Given the description of an element on the screen output the (x, y) to click on. 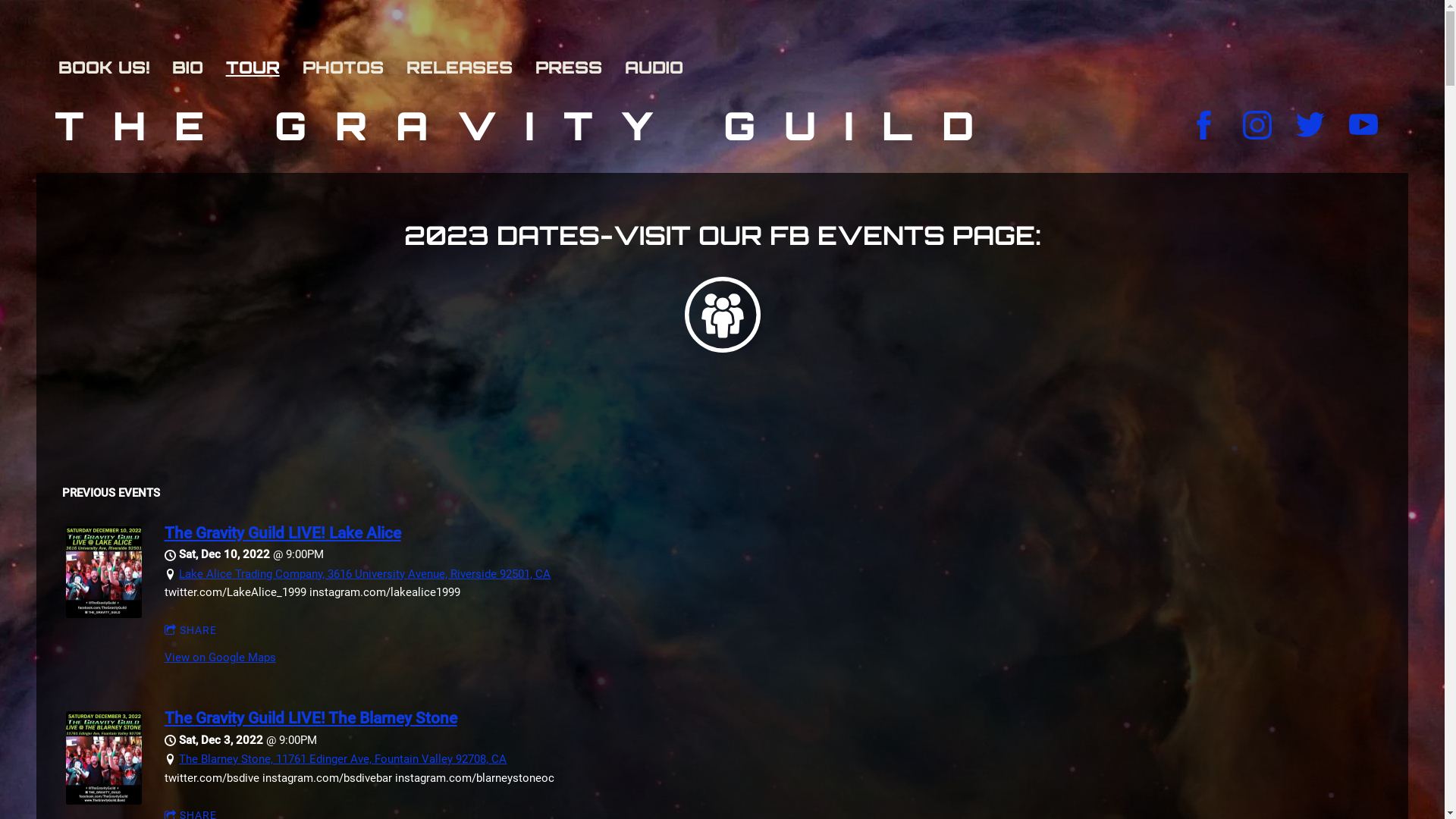
SHARE Element type: text (190, 630)
The Gravity Guild LIVE! Lake Alice Element type: hover (103, 614)
https://www.youtube.com/user/thegravityguild Element type: hover (1363, 124)
View on Google Maps Element type: text (220, 657)
RELEASES Element type: text (466, 66)
https://twitter.com/TheGravityGuild Element type: hover (1309, 124)
The Gravity Guild LIVE! The Blarney Stone Element type: hover (103, 800)
PHOTOS Element type: text (350, 66)
The Gravity Guild LIVE! The Blarney Stone Element type: text (310, 718)
BIO Element type: text (195, 66)
The Gravity Guild LIVE! Lake Alice Element type: text (282, 533)
PRESS Element type: text (576, 66)
AUDIO Element type: text (661, 66)
TOUR Element type: text (259, 66)
THE GRAVITY GUILD Element type: text (528, 133)
https://www.instagram.com/the_gravity_guild/ Element type: hover (1256, 124)
BOOK US! Element type: text (111, 66)
https://www.facebook.com/thegravityguild Element type: hover (1203, 124)
